Given the description of an element on the screen output the (x, y) to click on. 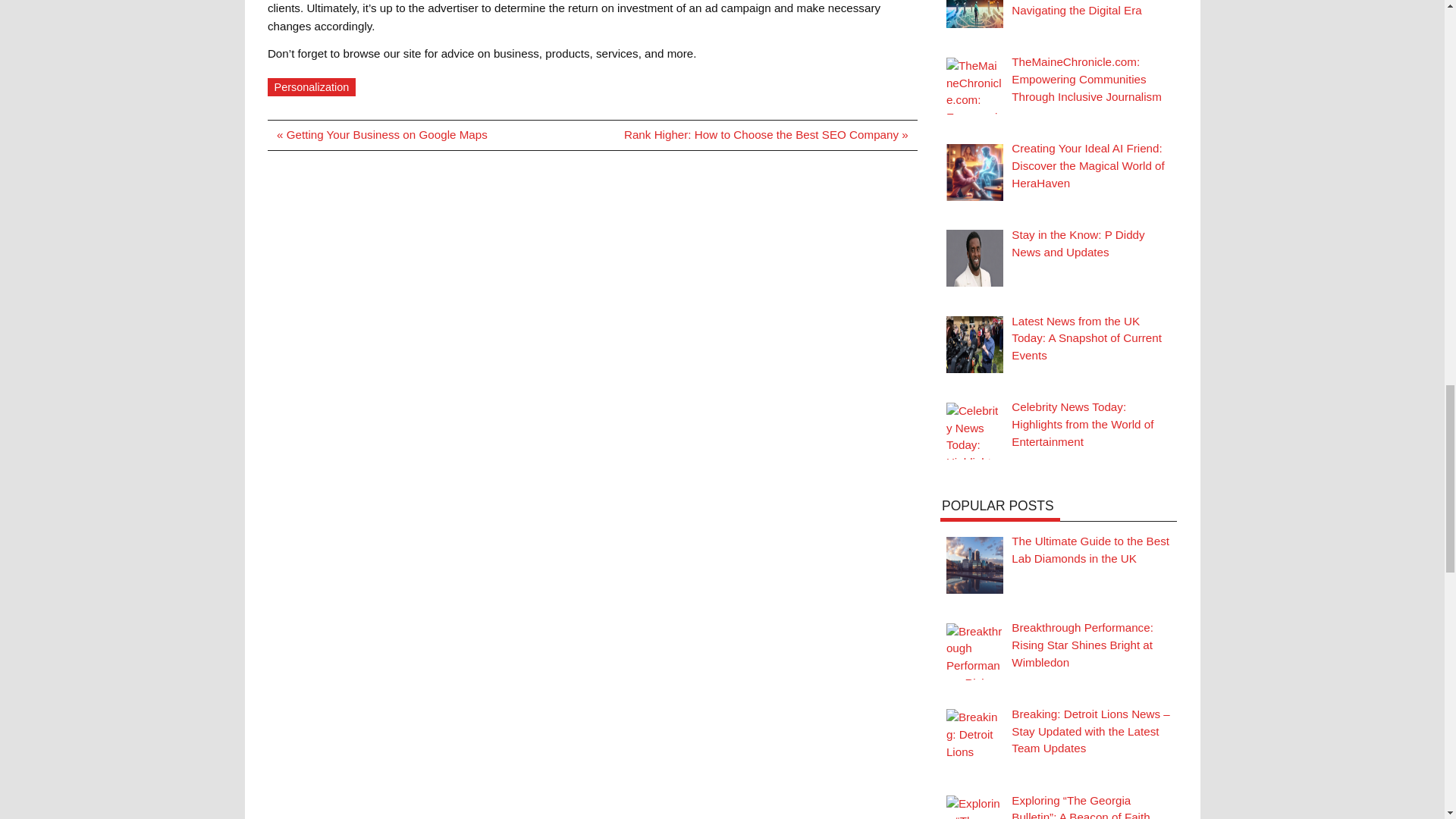
Personalization (311, 86)
